Given the description of an element on the screen output the (x, y) to click on. 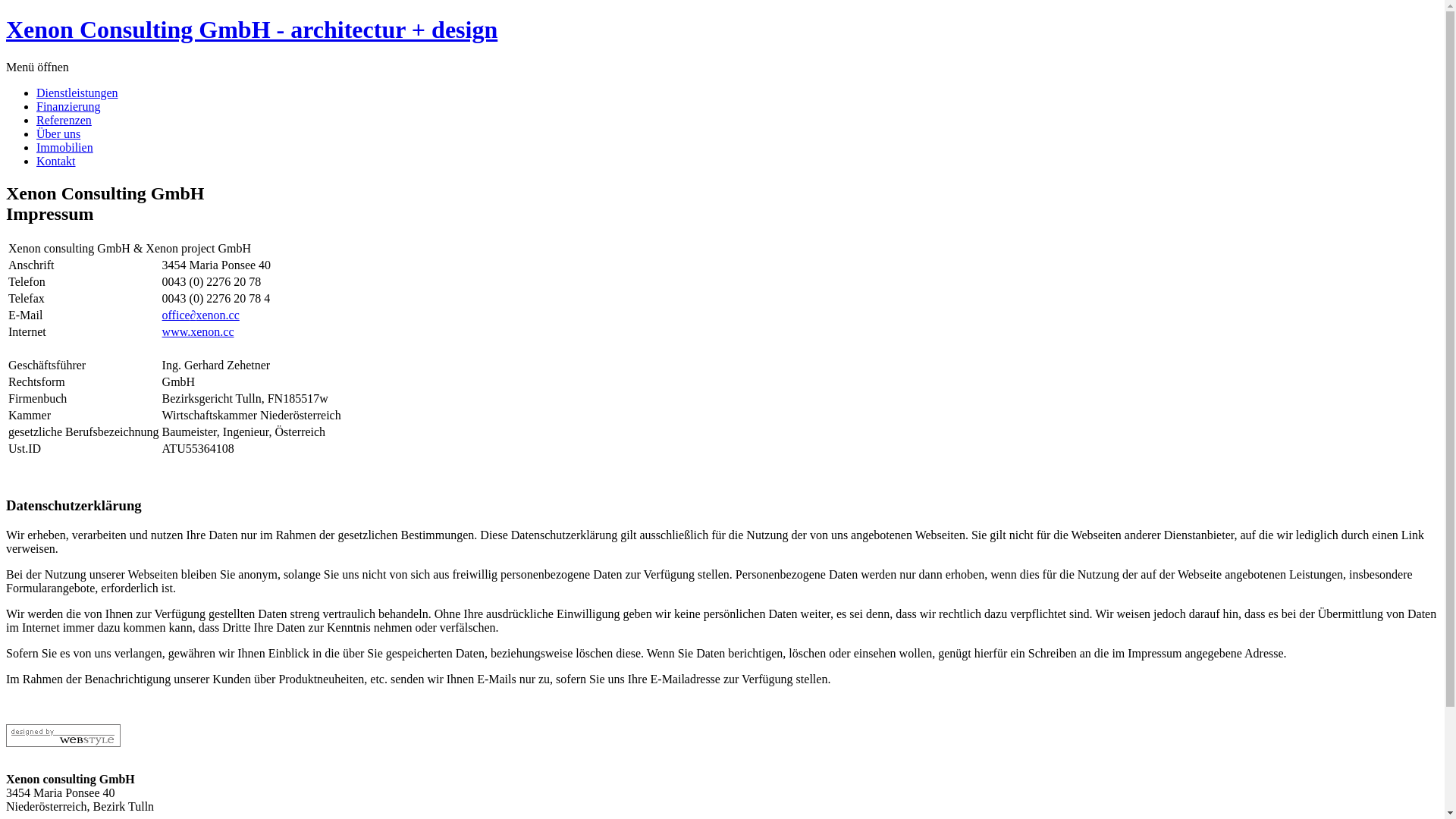
Finanzierung Element type: text (68, 106)
Referenzen Element type: text (63, 119)
Immobilien Element type: text (64, 147)
www.xenon.cc Element type: text (198, 331)
Kontakt Element type: text (55, 160)
Xenon Consulting GmbH - architectur + design Element type: text (251, 29)
Dienstleistungen Element type: text (77, 92)
